Given the description of an element on the screen output the (x, y) to click on. 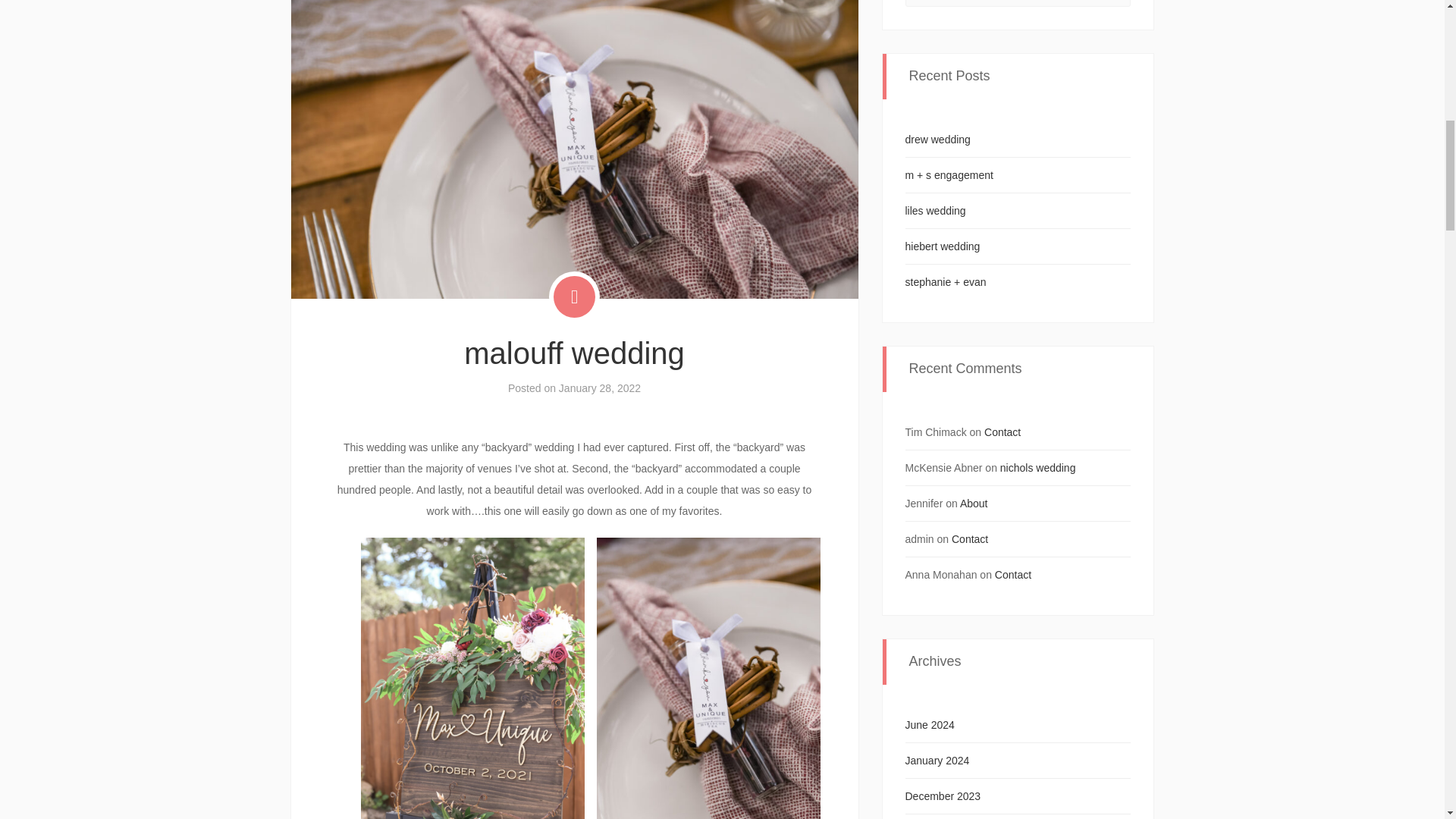
malouff wedding (574, 353)
liles wedding (935, 210)
drew wedding (938, 139)
January 28, 2022 (599, 387)
Search (1119, 3)
All Gallery Posts (574, 296)
